Given the description of an element on the screen output the (x, y) to click on. 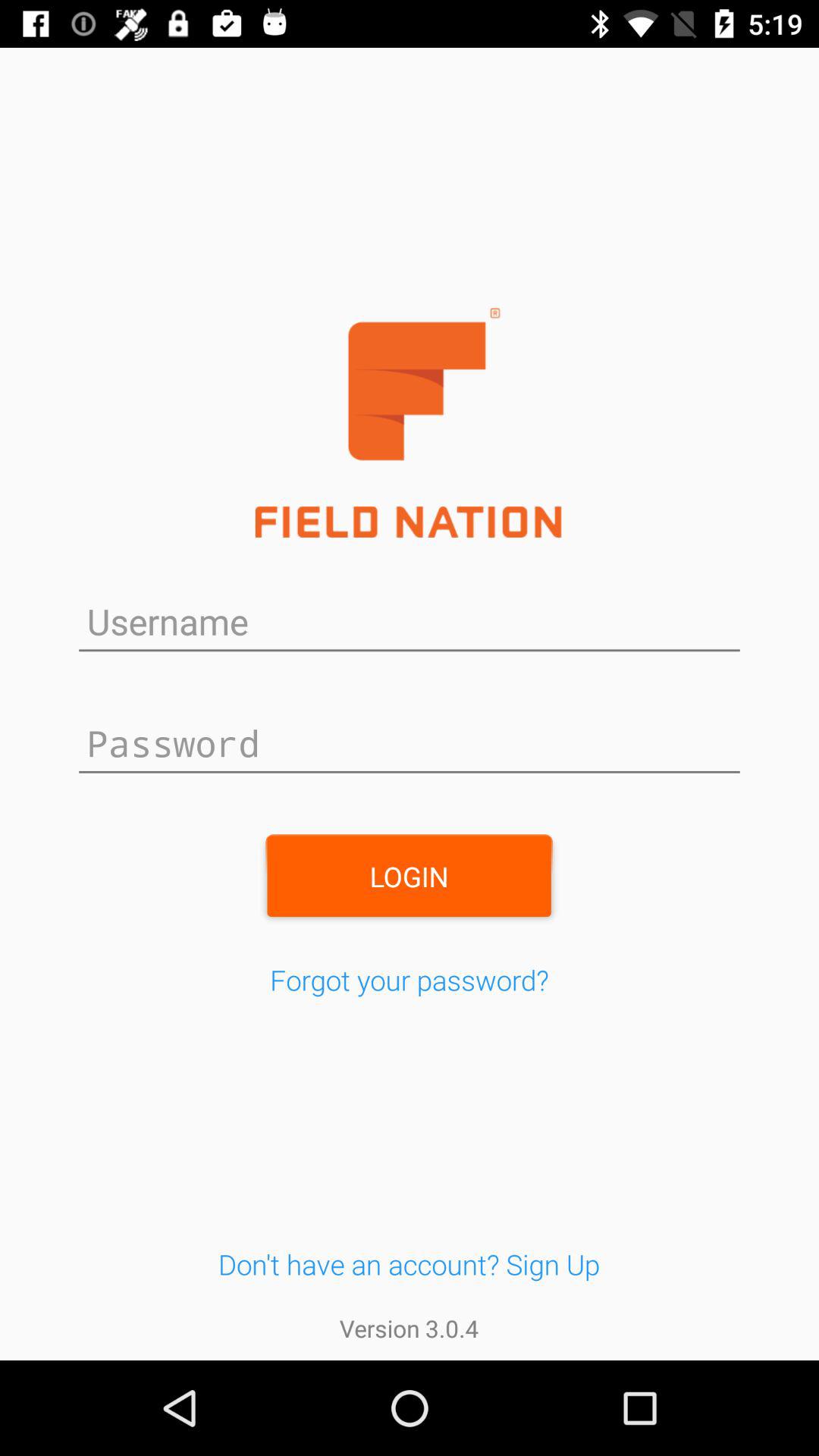
choose the item above the don t have item (409, 979)
